Given the description of an element on the screen output the (x, y) to click on. 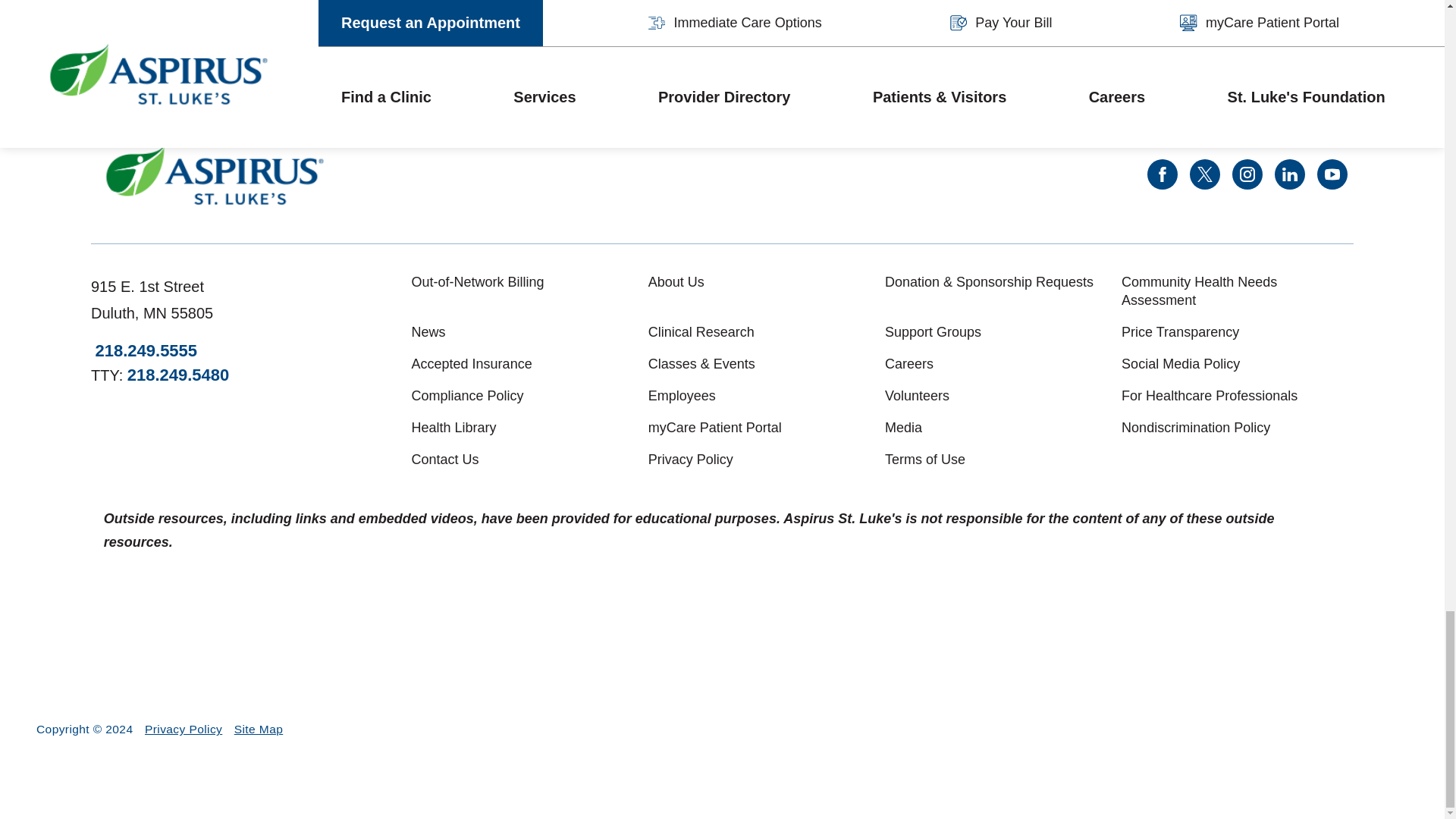
Facebook (1162, 173)
Twitter (1204, 173)
Instagram (1246, 173)
LinkedIn (1289, 173)
YouTube (1332, 173)
Aspirus St. Luke's (214, 174)
Internet Marketing Experts (1346, 729)
